Given the description of an element on the screen output the (x, y) to click on. 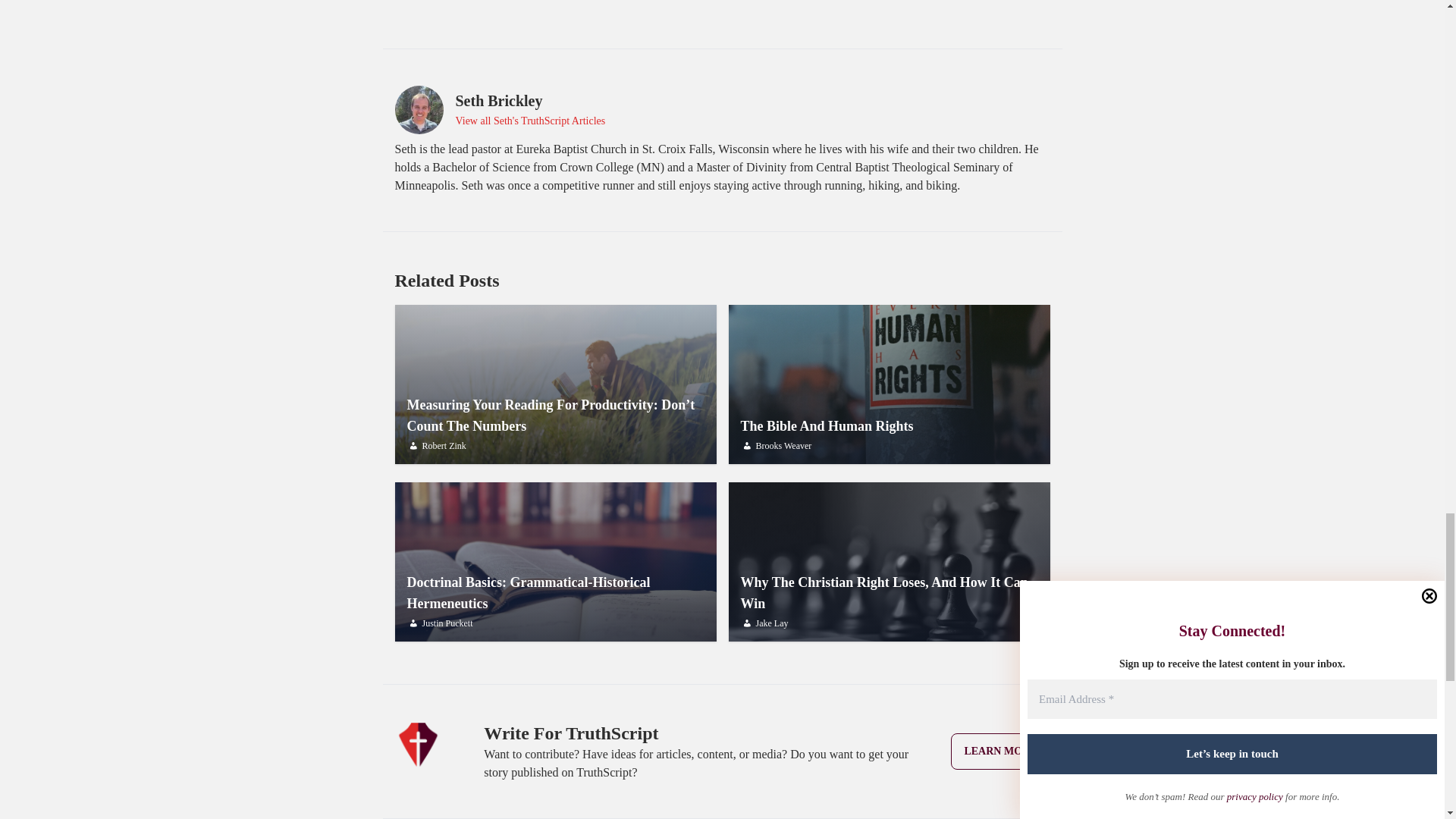
View all Seth's TruthScript Articles (888, 384)
LEARN MORE (888, 561)
